Given the description of an element on the screen output the (x, y) to click on. 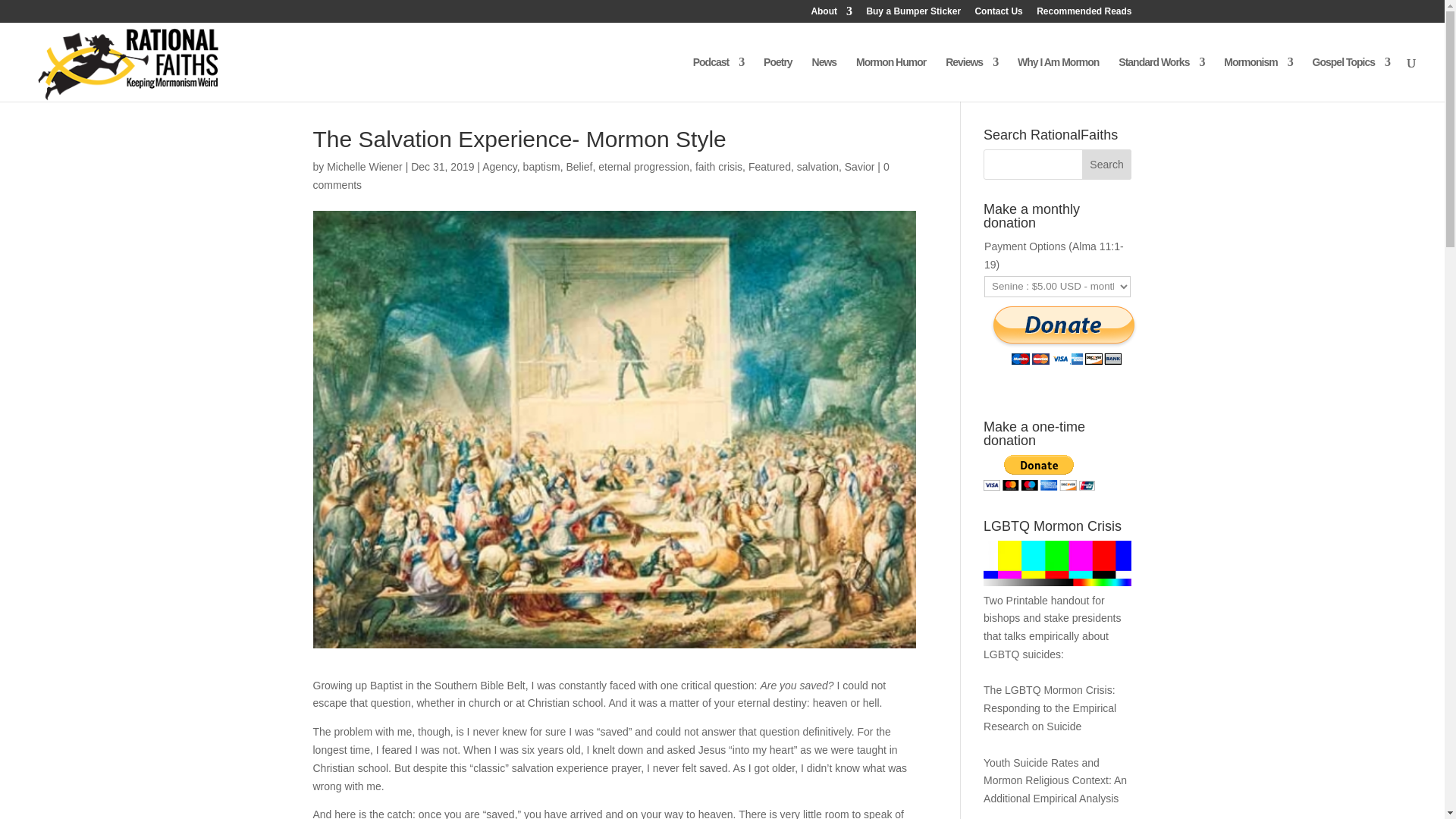
Why I Am Mormon (1058, 78)
Contact Us (998, 14)
Recommended Reads (1083, 14)
Posts by Michelle Wiener (364, 166)
Mormon Humor (891, 78)
Search (1106, 164)
Buy a Bumper Sticker (913, 14)
Podcast (718, 78)
Reviews (970, 78)
About (830, 14)
Mormonism (1258, 78)
Standard Works (1161, 78)
